Given the description of an element on the screen output the (x, y) to click on. 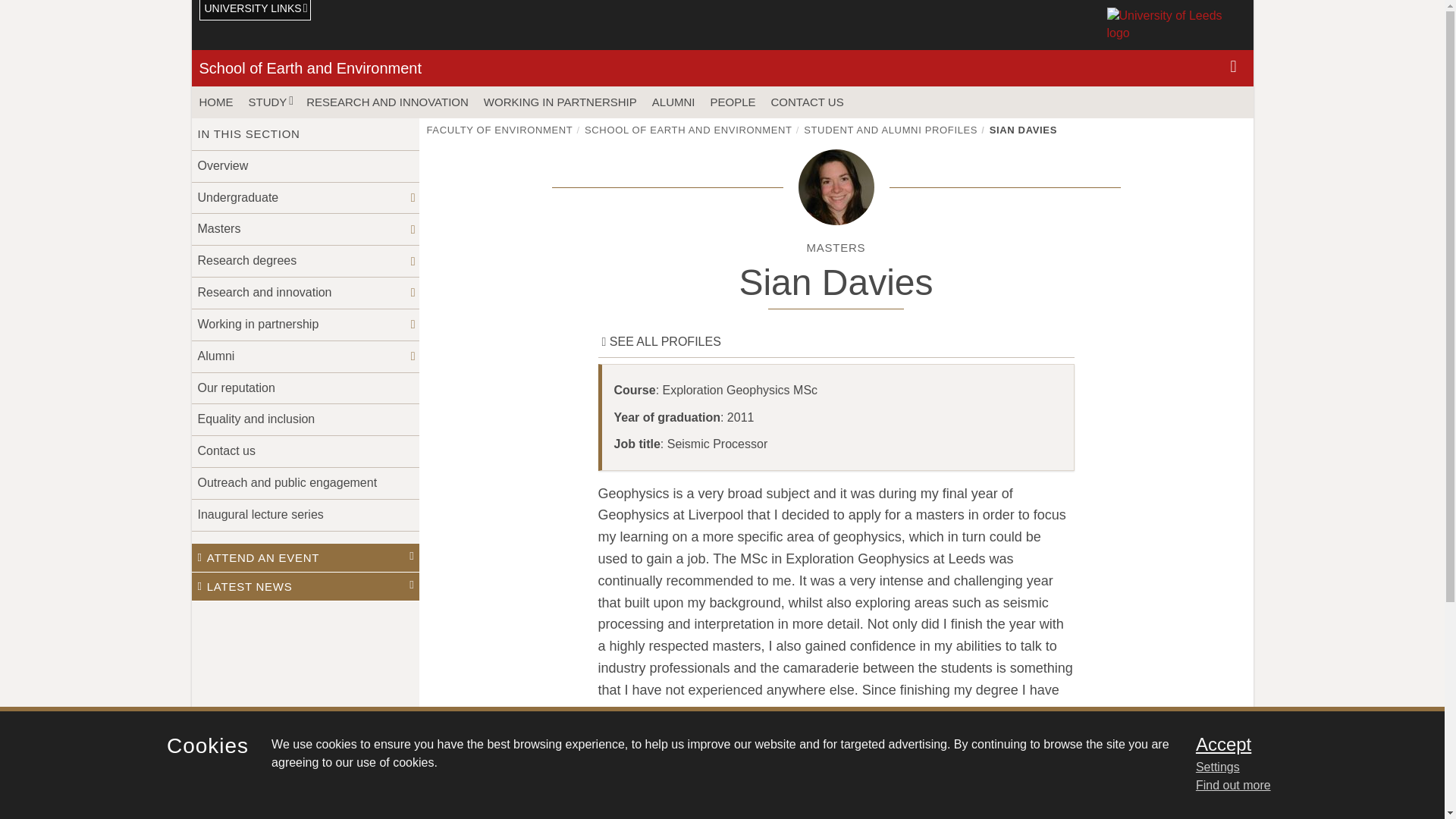
UNIVERSITY LINKS (254, 10)
Visit Queen's anniversary prize (321, 791)
Go to Weibo page (1215, 791)
Visit Russell Group (400, 791)
University of Leeds homepage (1176, 24)
Go to Twitter page (1193, 791)
Visit Athena SWAN Silver award (242, 791)
Accept (1300, 744)
Find out more (1233, 784)
Go to YouTube page (1236, 791)
Go to Instagram page (1173, 791)
Settings (1300, 767)
Go to Facebook page (1152, 791)
